Given the description of an element on the screen output the (x, y) to click on. 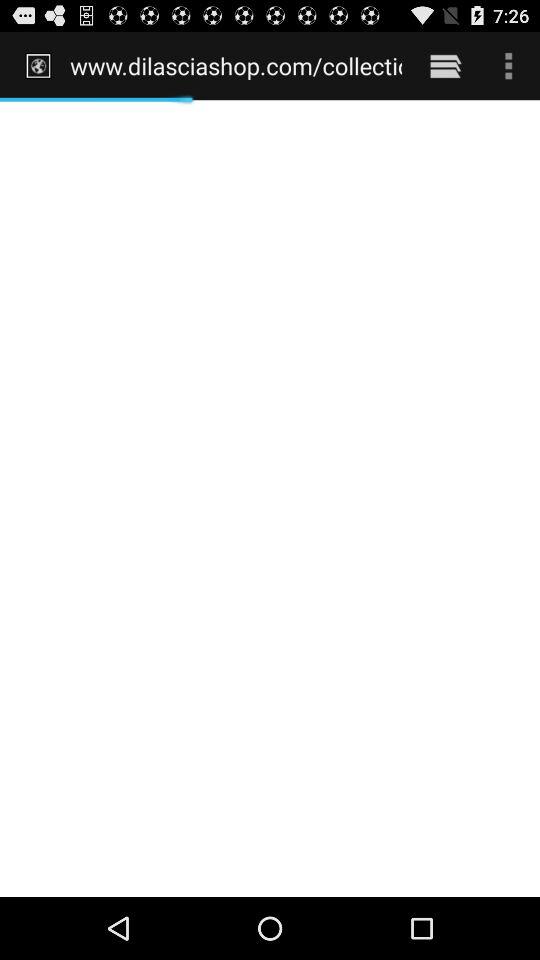
turn off the icon below www dilasciashop com item (270, 497)
